Given the description of an element on the screen output the (x, y) to click on. 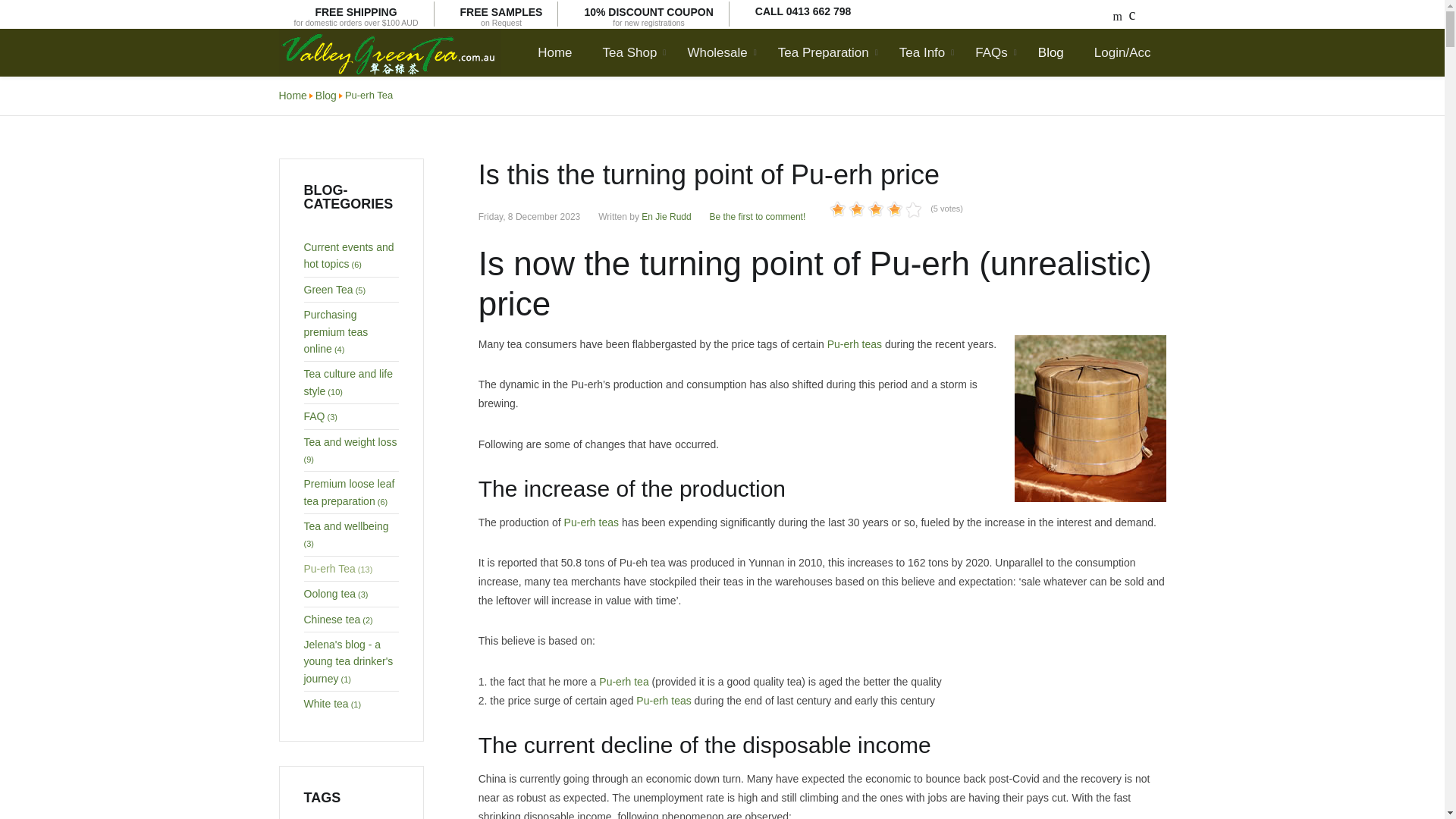
Home (561, 52)
CALL 0413 662 798 (500, 15)
Tea Shop (803, 10)
